Given the description of an element on the screen output the (x, y) to click on. 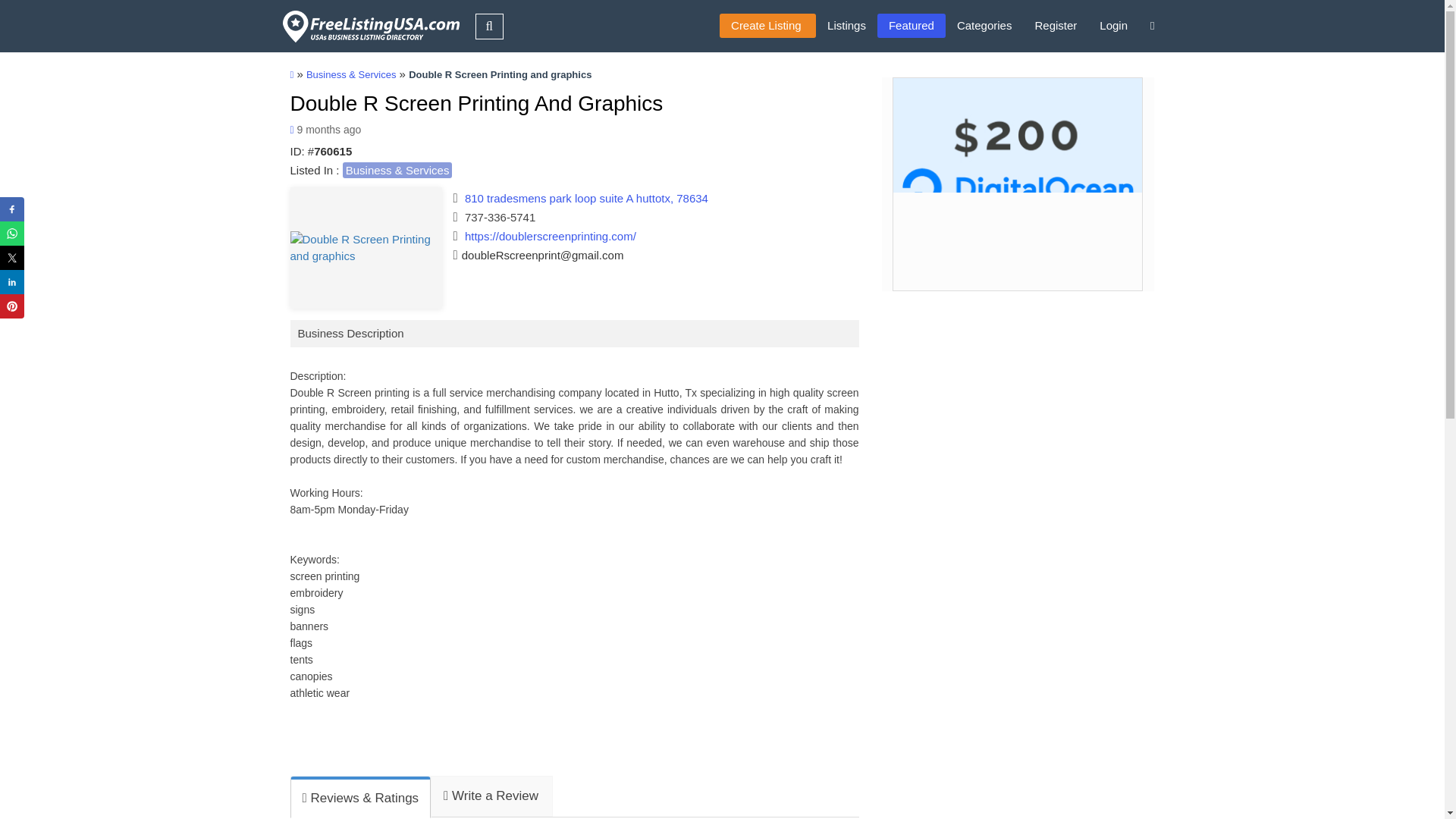
Listings (846, 25)
737-336-5741 (499, 216)
Write a Review (490, 795)
Featured (910, 25)
Double R Screen Printing and graphics (365, 246)
FreeListingUSA logo (369, 25)
Double R Screen Printing And Graphics (475, 103)
List your business for free (767, 25)
Categories (983, 25)
Login (1112, 25)
